Given the description of an element on the screen output the (x, y) to click on. 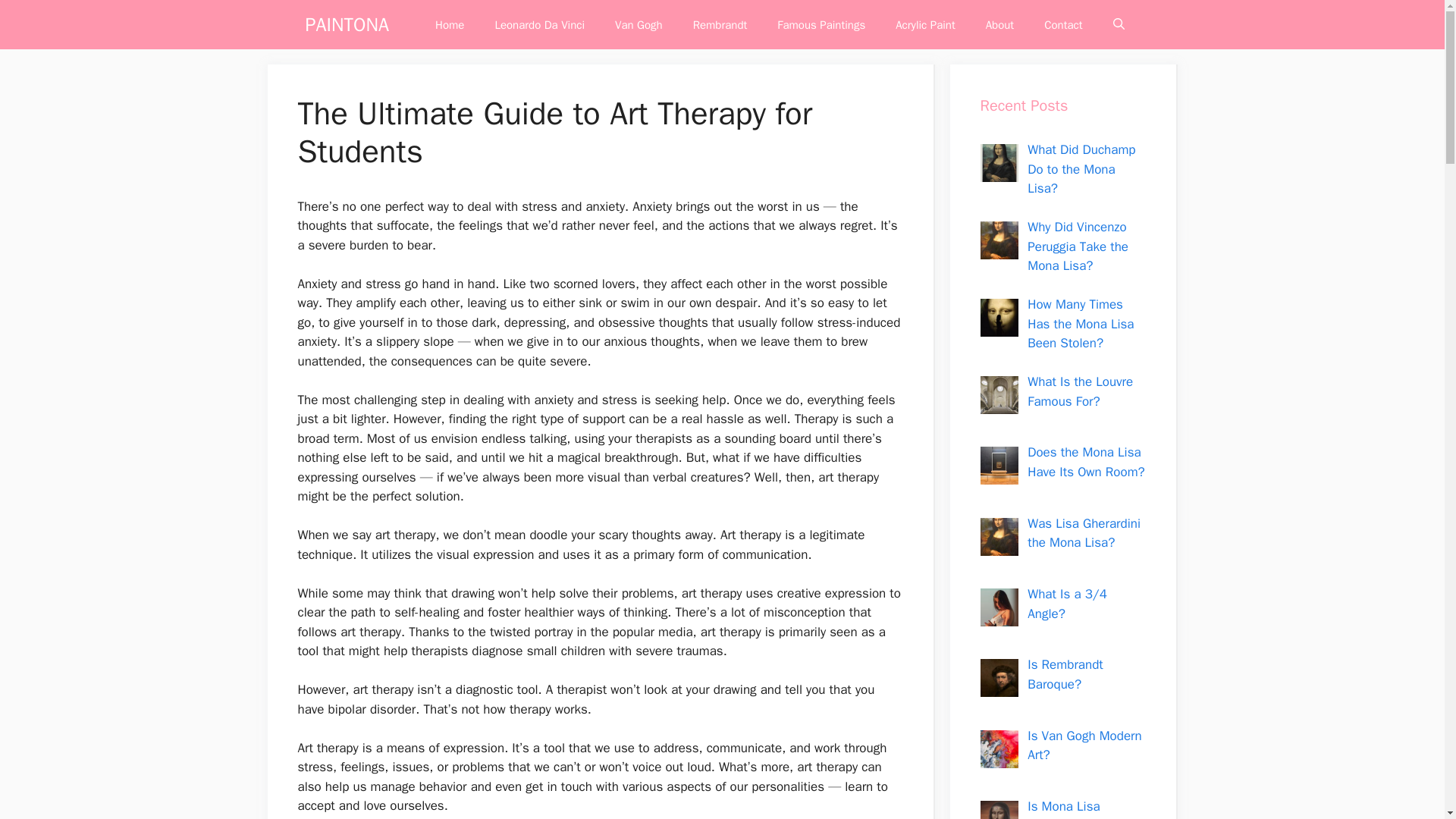
Home (449, 23)
PAINTONA (346, 24)
What Is the Louvre Famous For? (1079, 391)
Is Mona Lisa Religious? (1063, 808)
Rembrandt (720, 23)
About (1000, 23)
Contact (1063, 23)
Famous Paintings (820, 23)
Is Van Gogh Modern Art? (1084, 745)
Was Lisa Gherardini the Mona Lisa? (1083, 533)
